Given the description of an element on the screen output the (x, y) to click on. 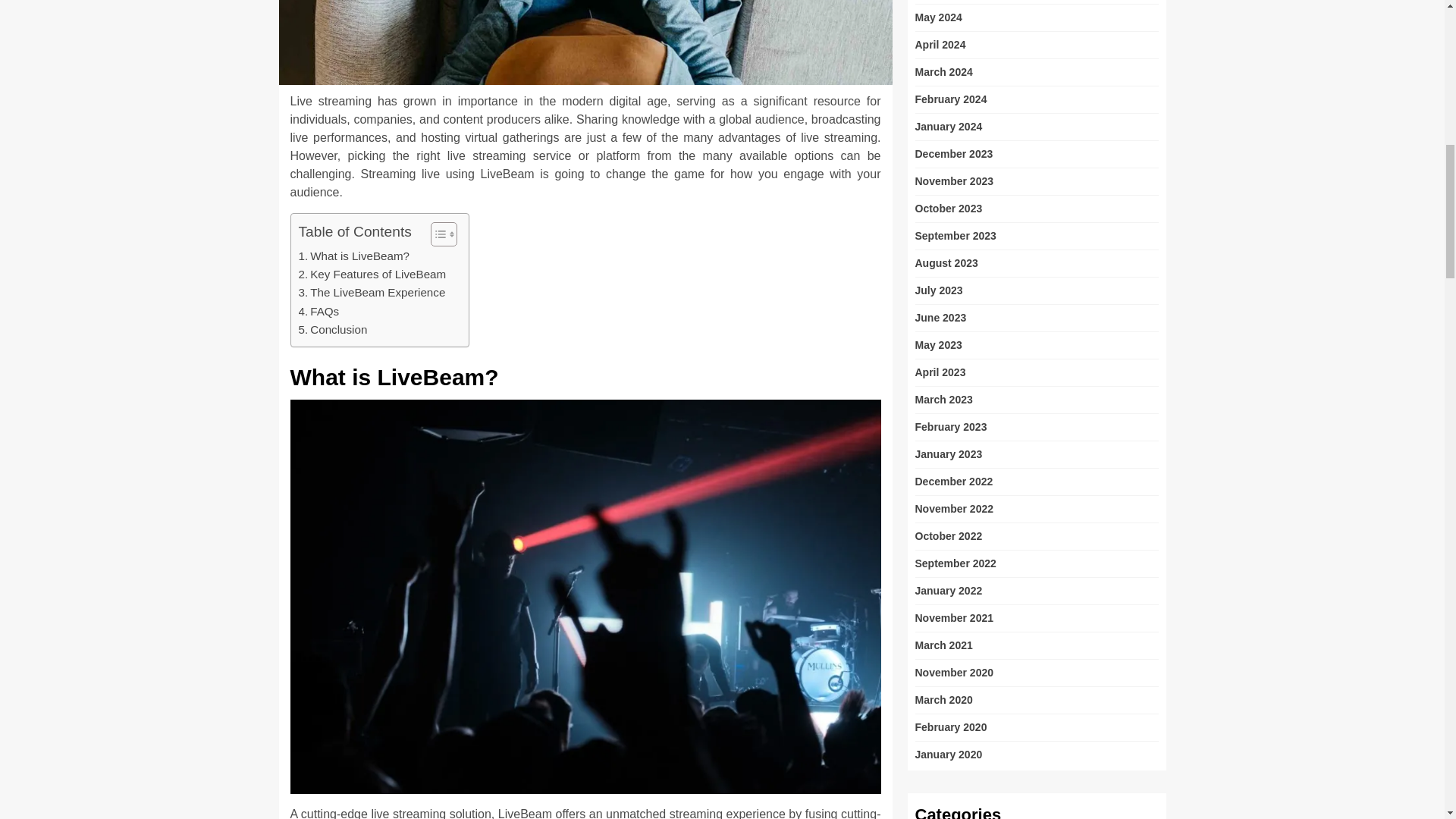
What is LiveBeam? (354, 256)
FAQs (318, 311)
Key Features of LiveBeam (372, 274)
Conclusion (333, 330)
FAQs (318, 311)
Conclusion (333, 330)
What is LiveBeam? (354, 256)
Key Features of LiveBeam (372, 274)
The LiveBeam Experience (371, 292)
The LiveBeam Experience (371, 292)
